Given the description of an element on the screen output the (x, y) to click on. 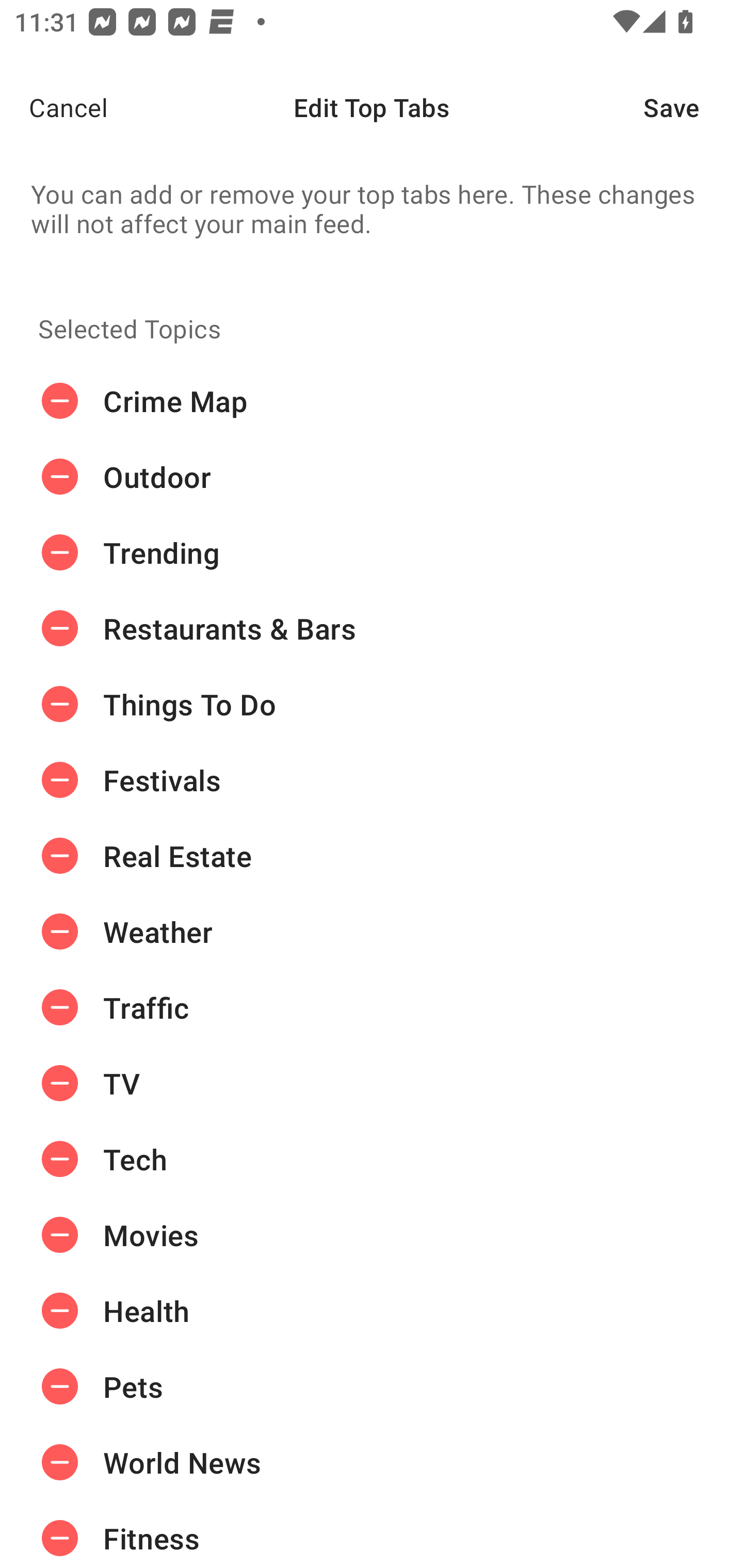
Cancel (53, 106)
Save (693, 106)
Crime Map (371, 401)
Outdoor (371, 476)
Trending (371, 552)
Restaurants & Bars (371, 628)
Things To Do (371, 703)
Festivals (371, 779)
Real Estate (371, 855)
Weather (371, 931)
Traffic (371, 1007)
TV (371, 1083)
Tech (371, 1158)
Movies (371, 1234)
Health (371, 1310)
Pets (371, 1386)
World News (371, 1462)
Fitness (371, 1534)
